Given the description of an element on the screen output the (x, y) to click on. 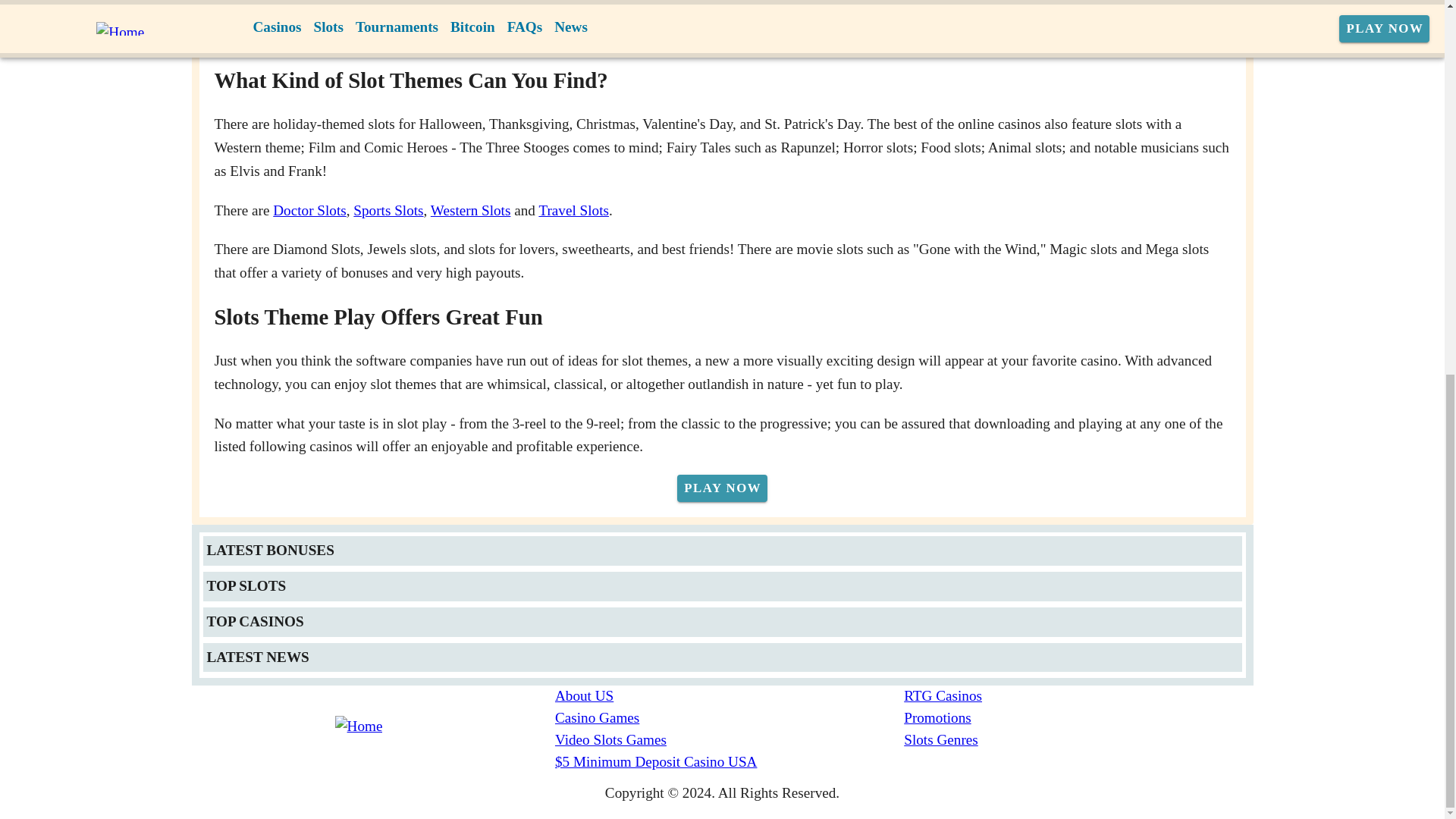
Western Slots (470, 210)
Slots Genres (1078, 740)
About US (729, 696)
Sports Slots (388, 210)
Video Slots Games (729, 740)
Doctor Slots (309, 210)
RTG Casinos (1078, 696)
Casino Games (729, 718)
Travel Slots (573, 210)
Promotions (1078, 718)
